Given the description of an element on the screen output the (x, y) to click on. 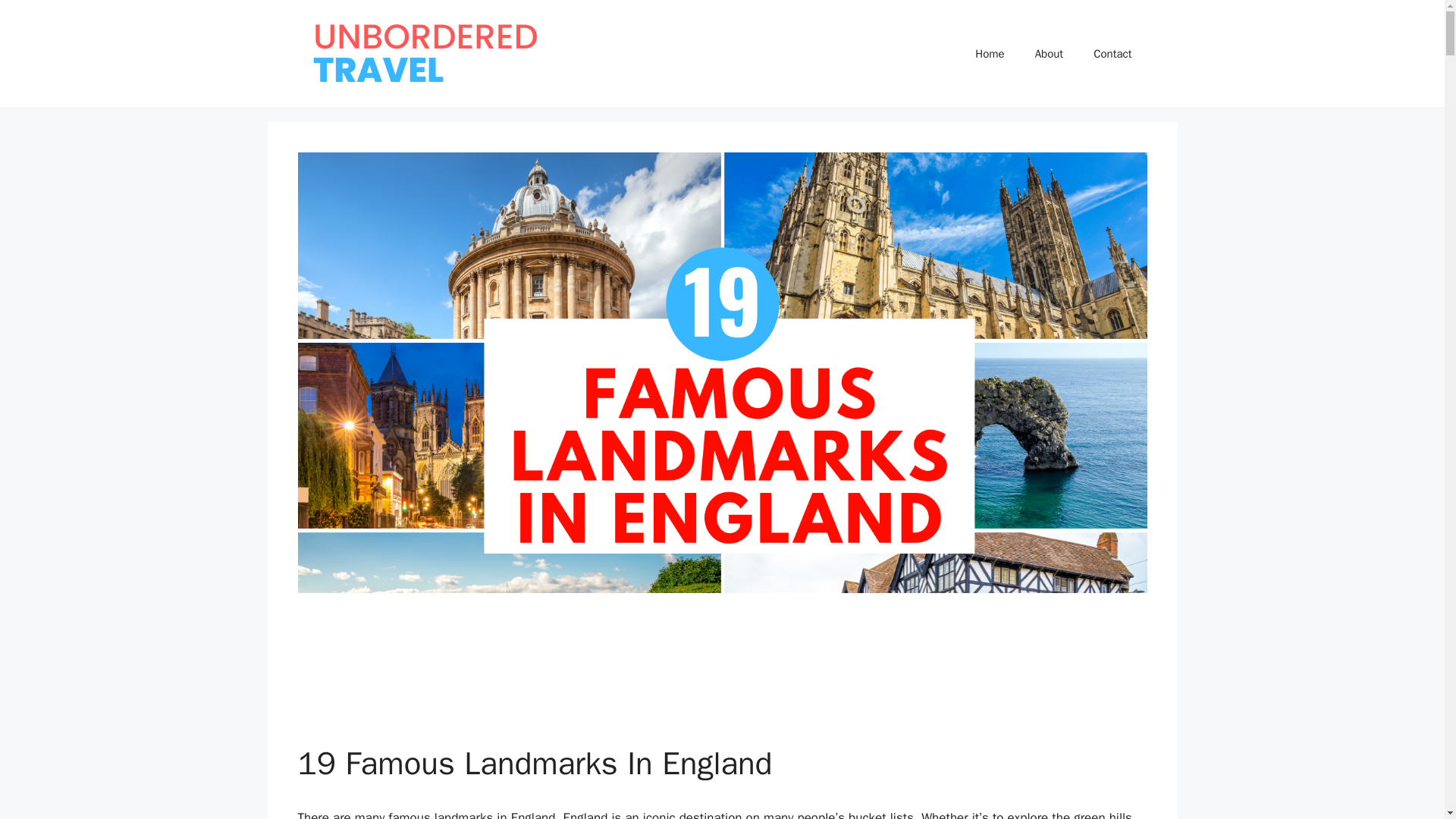
Home (989, 53)
About (1049, 53)
Contact (1112, 53)
